Given the description of an element on the screen output the (x, y) to click on. 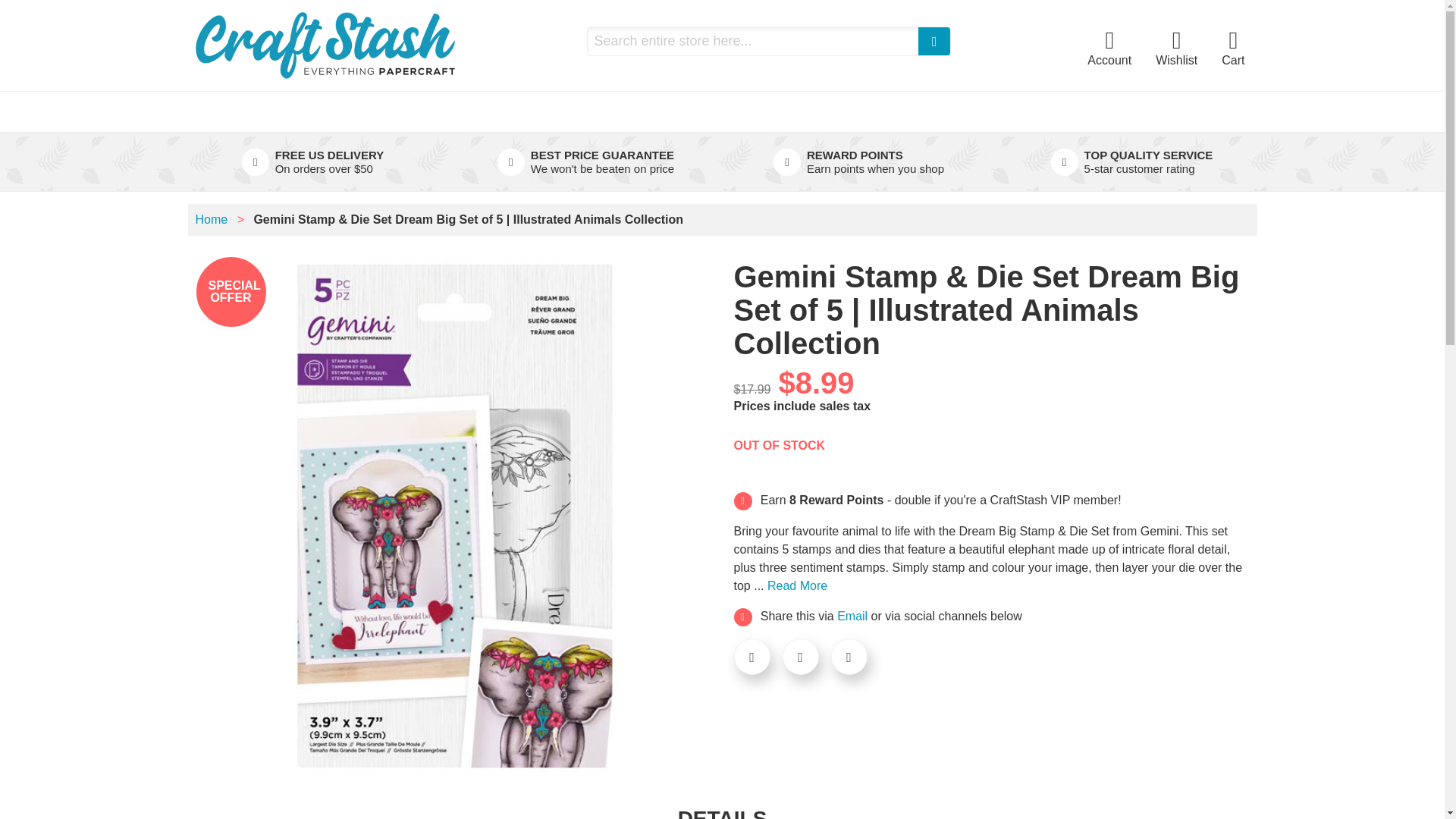
Search (934, 41)
Availability (779, 445)
Share on Pinterest (849, 656)
Share on Twitter (800, 656)
Go to Home Page (213, 219)
Share on Facebook (751, 656)
